Given the description of an element on the screen output the (x, y) to click on. 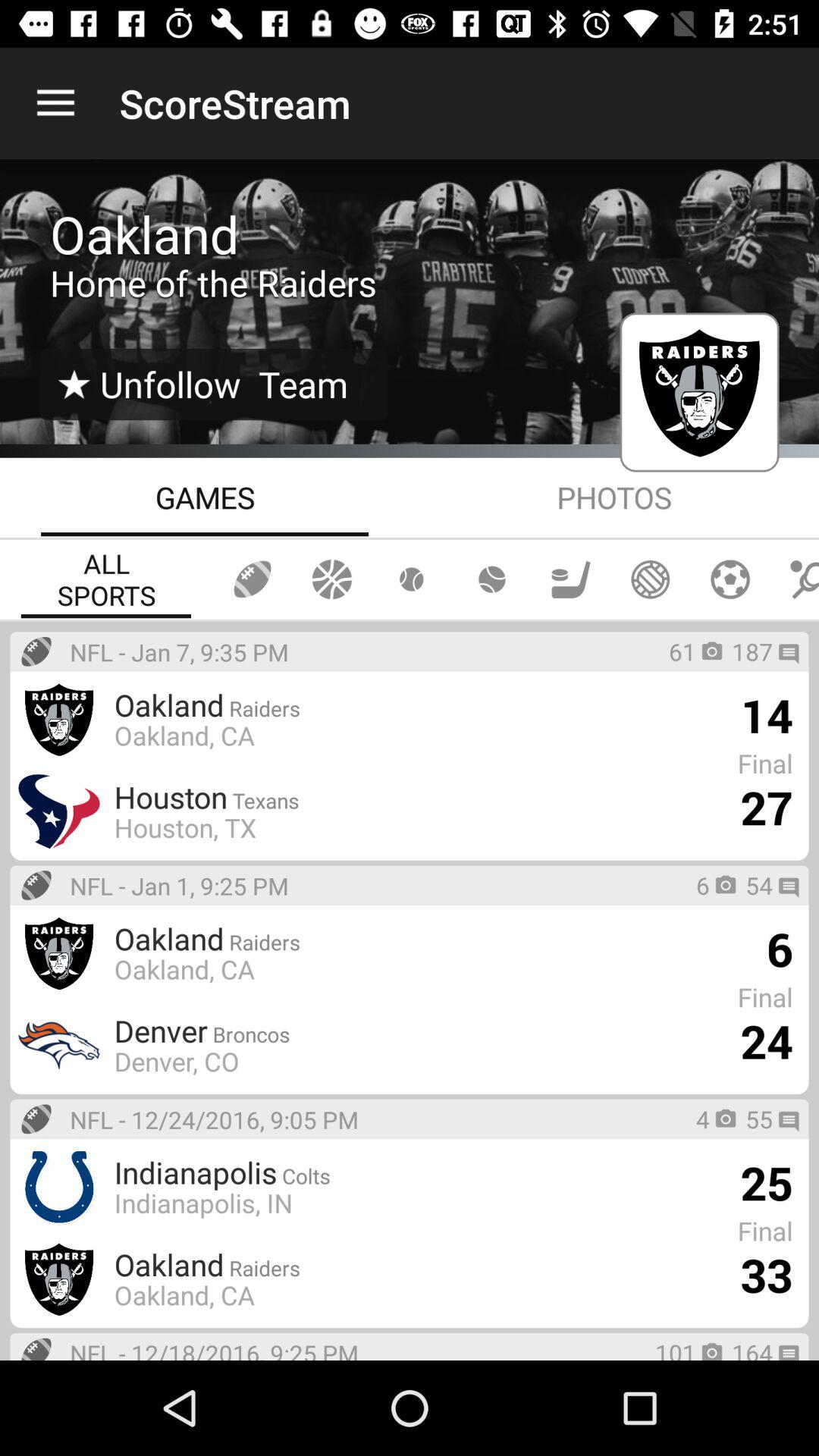
tap the 4 icon (702, 1118)
